Given the description of an element on the screen output the (x, y) to click on. 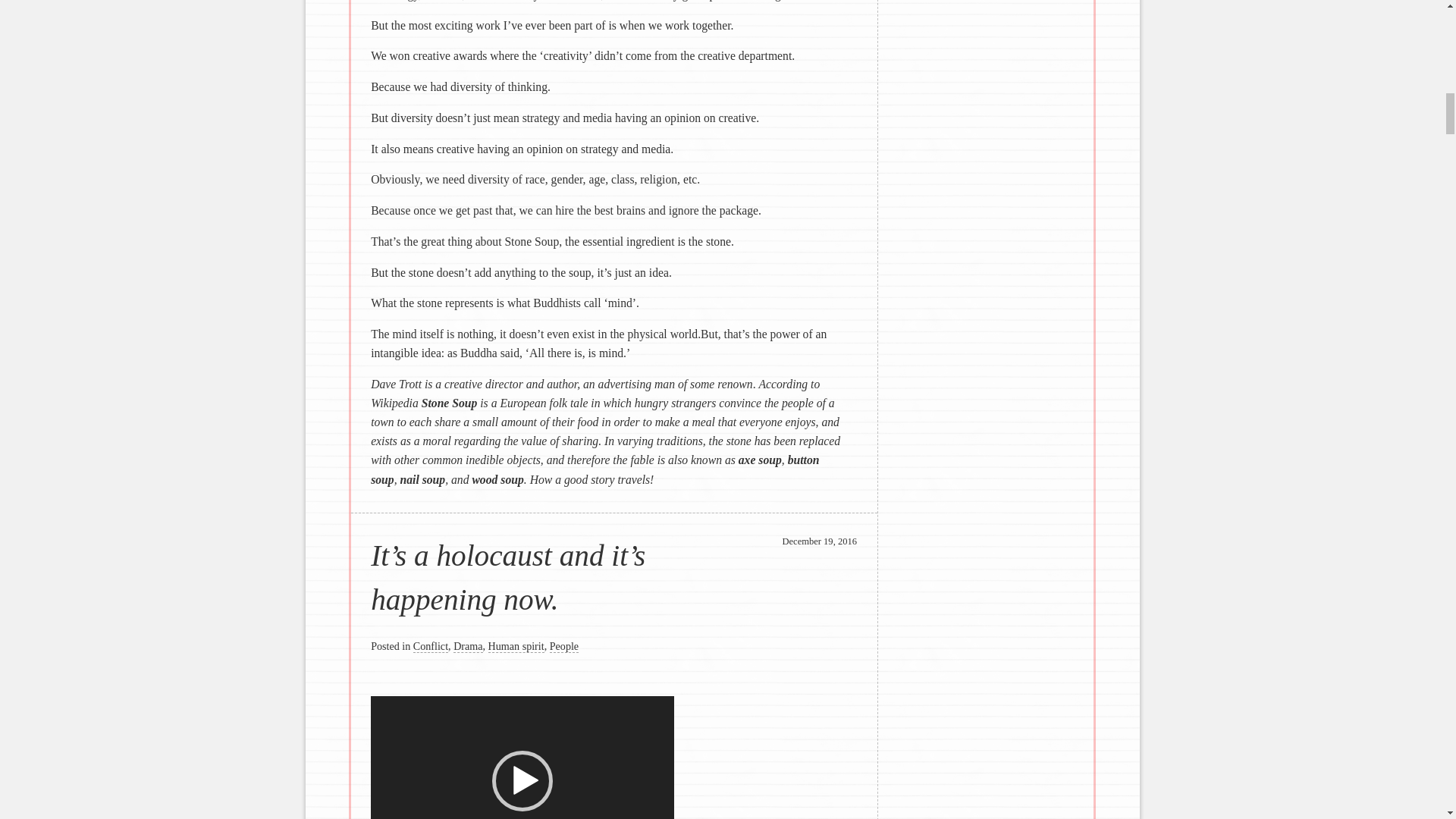
People (564, 645)
Drama (466, 645)
Human spirit (515, 645)
Conflict (430, 645)
